Given the description of an element on the screen output the (x, y) to click on. 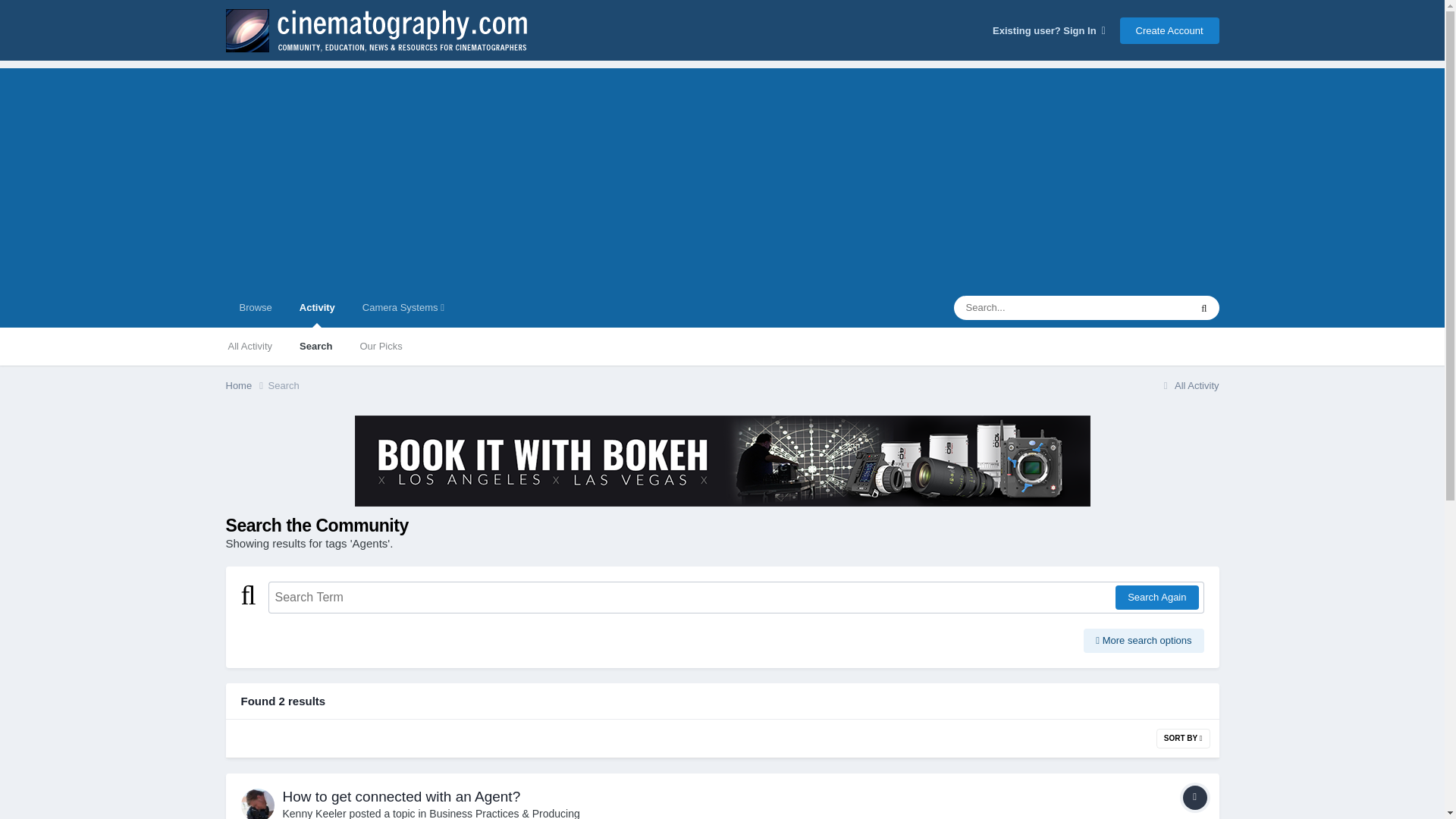
Go to Kenny Keeler's profile (314, 813)
Create Account (1169, 29)
Camera Systems (403, 307)
Home (246, 385)
Activity (317, 307)
Browse (255, 307)
Search (315, 346)
Existing user? Sign In   (1048, 30)
Go to Kenny Keeler's profile (258, 803)
